Given the description of an element on the screen output the (x, y) to click on. 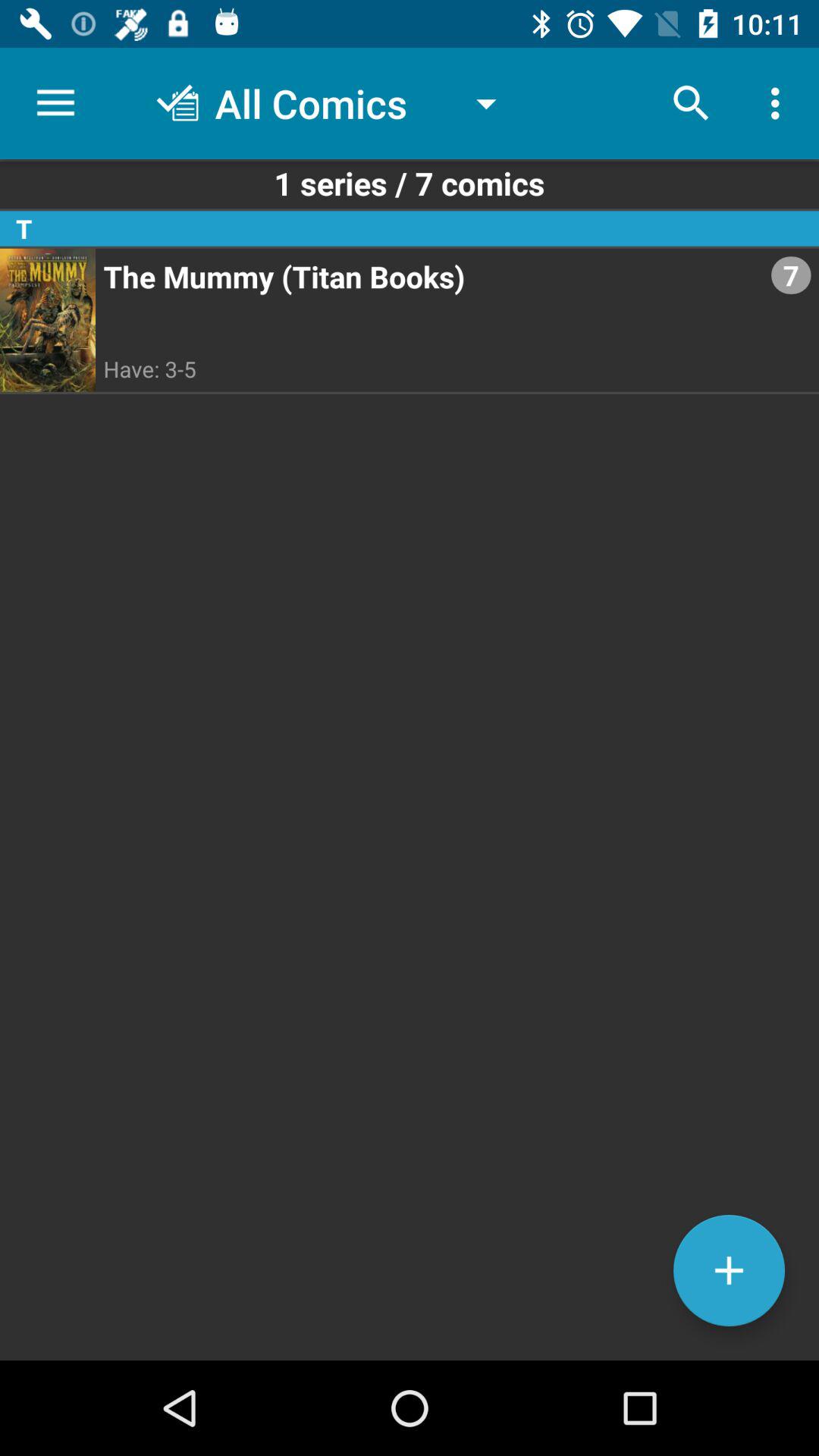
add item (728, 1270)
